Given the description of an element on the screen output the (x, y) to click on. 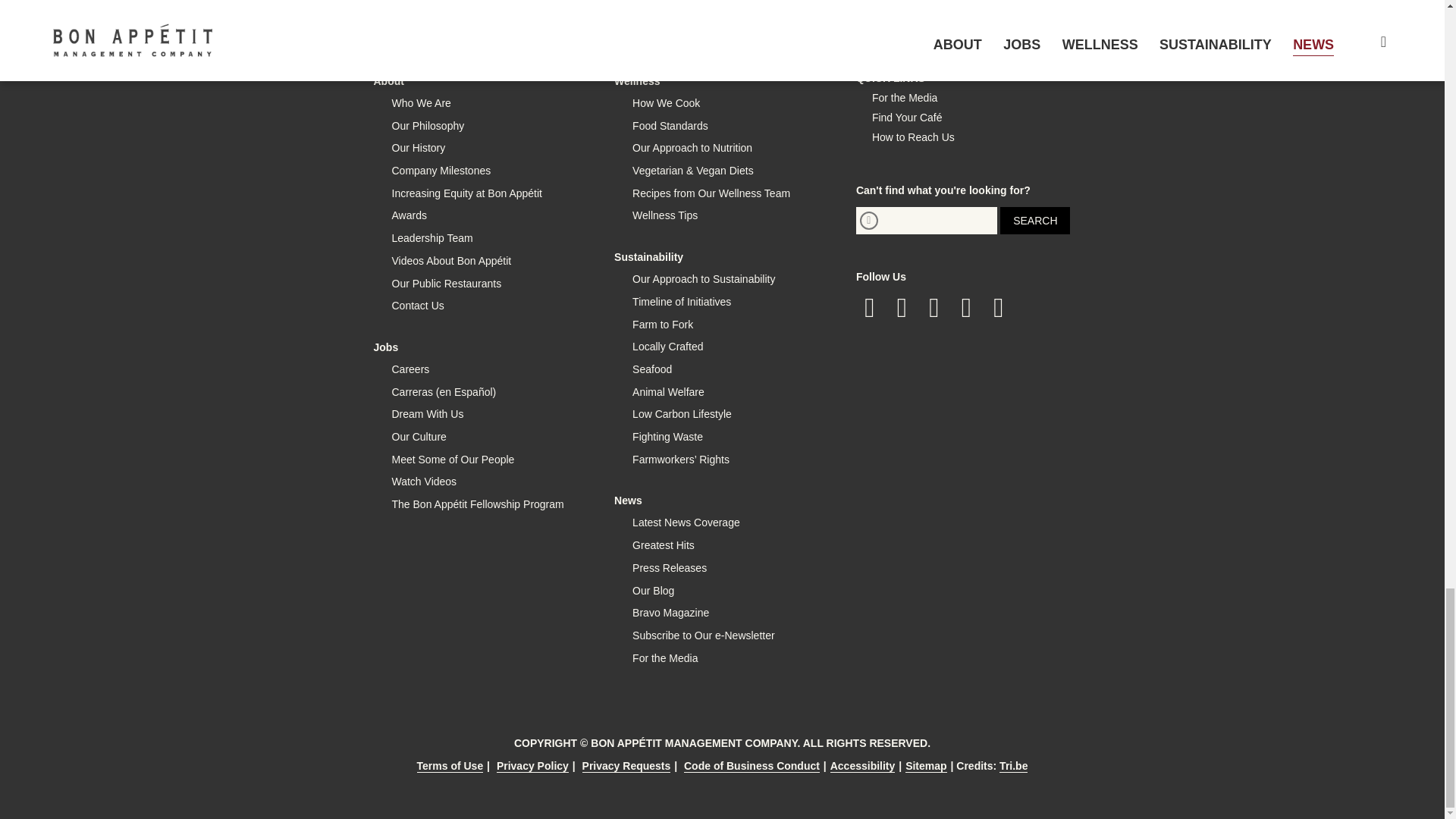
Search (1035, 220)
Follow us on Twitter (901, 308)
Follow us on Instagram (933, 308)
Follow us on Facebook (869, 308)
Follow us on LinkedIn (965, 308)
